Given the description of an element on the screen output the (x, y) to click on. 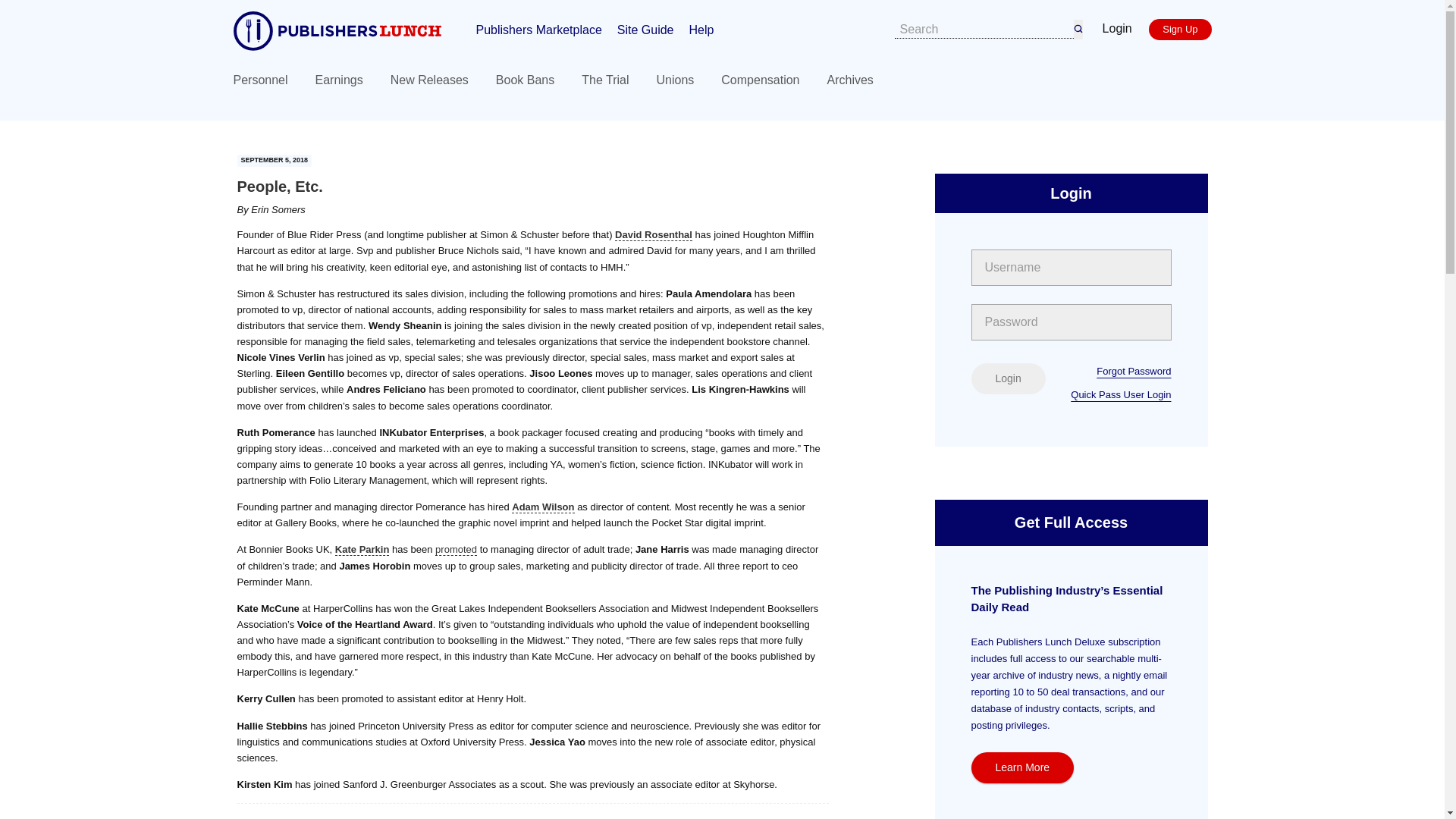
Compensation (759, 79)
Book Bans (525, 79)
Quick Pass User Login (1120, 394)
David Rosenthal (653, 234)
Login (1008, 378)
Publishers Marketplace (539, 29)
Kate Parkin (362, 549)
Adam Wilson (542, 507)
Sign Up (1179, 29)
Personnel (260, 79)
Archives (849, 79)
Learn More (1022, 767)
promoted (456, 549)
Help (701, 29)
